Given the description of an element on the screen output the (x, y) to click on. 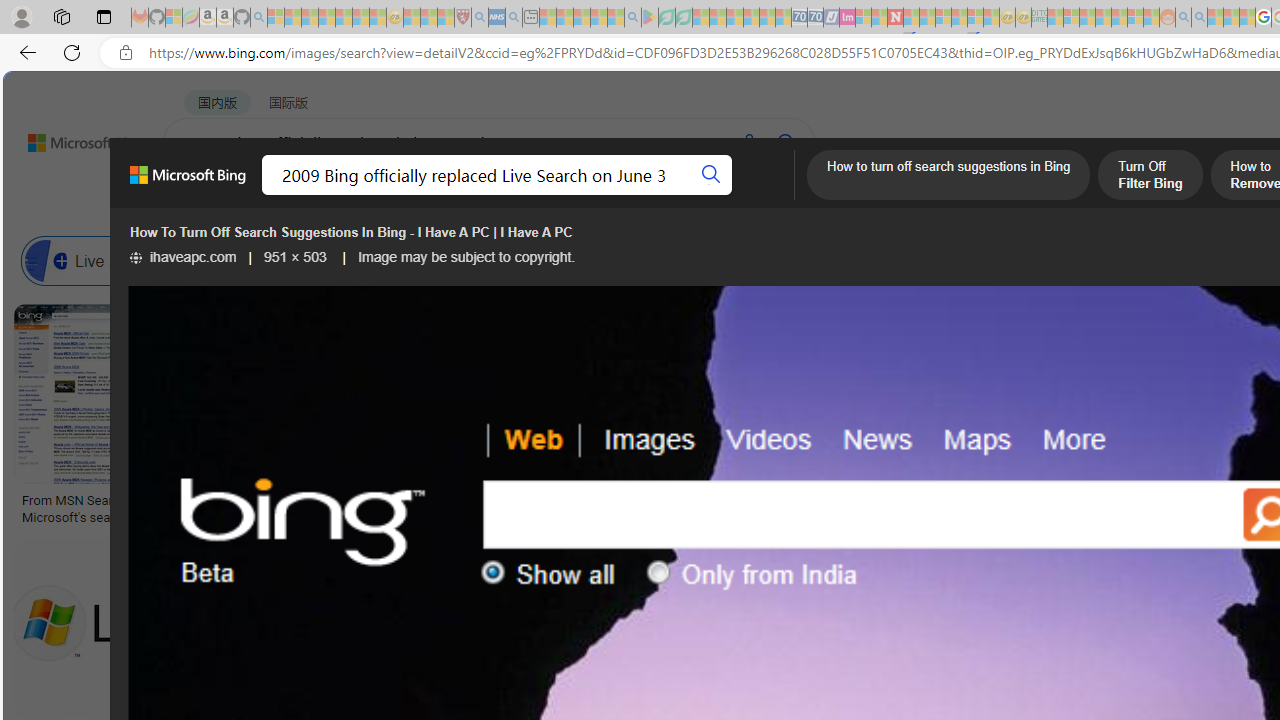
Image may be subject to copyright. (467, 257)
Microsoft Live Logo (737, 500)
Recipes - MSN - Sleeping (411, 17)
ACADEMIC (635, 195)
Bing Word Search (648, 260)
Live Search (100, 260)
Dropdown Menu (793, 195)
Microsoft account | Privacy - Sleeping (1071, 17)
